Given the description of an element on the screen output the (x, y) to click on. 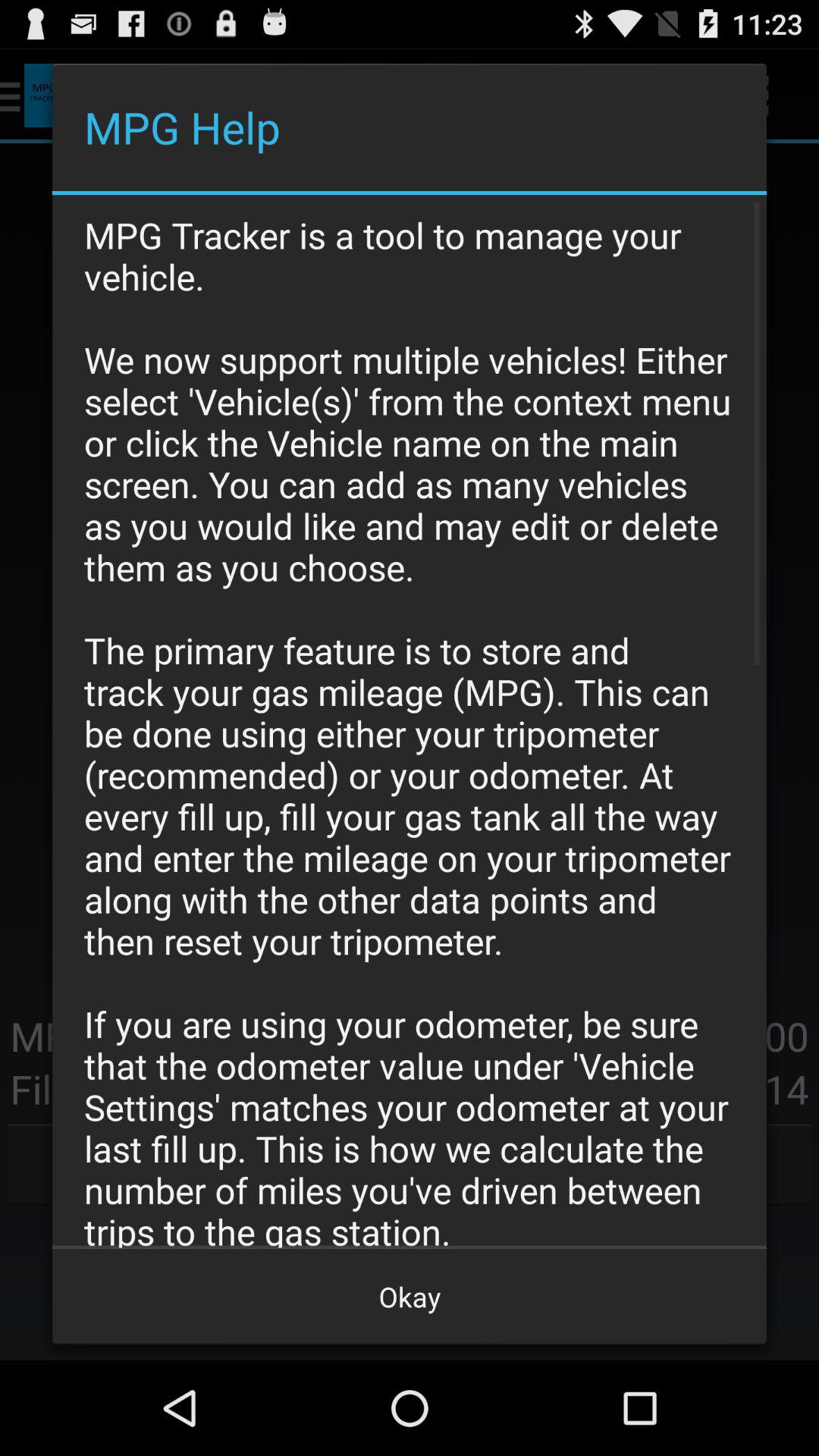
turn on the item below the mpg tracker is app (409, 1296)
